Given the description of an element on the screen output the (x, y) to click on. 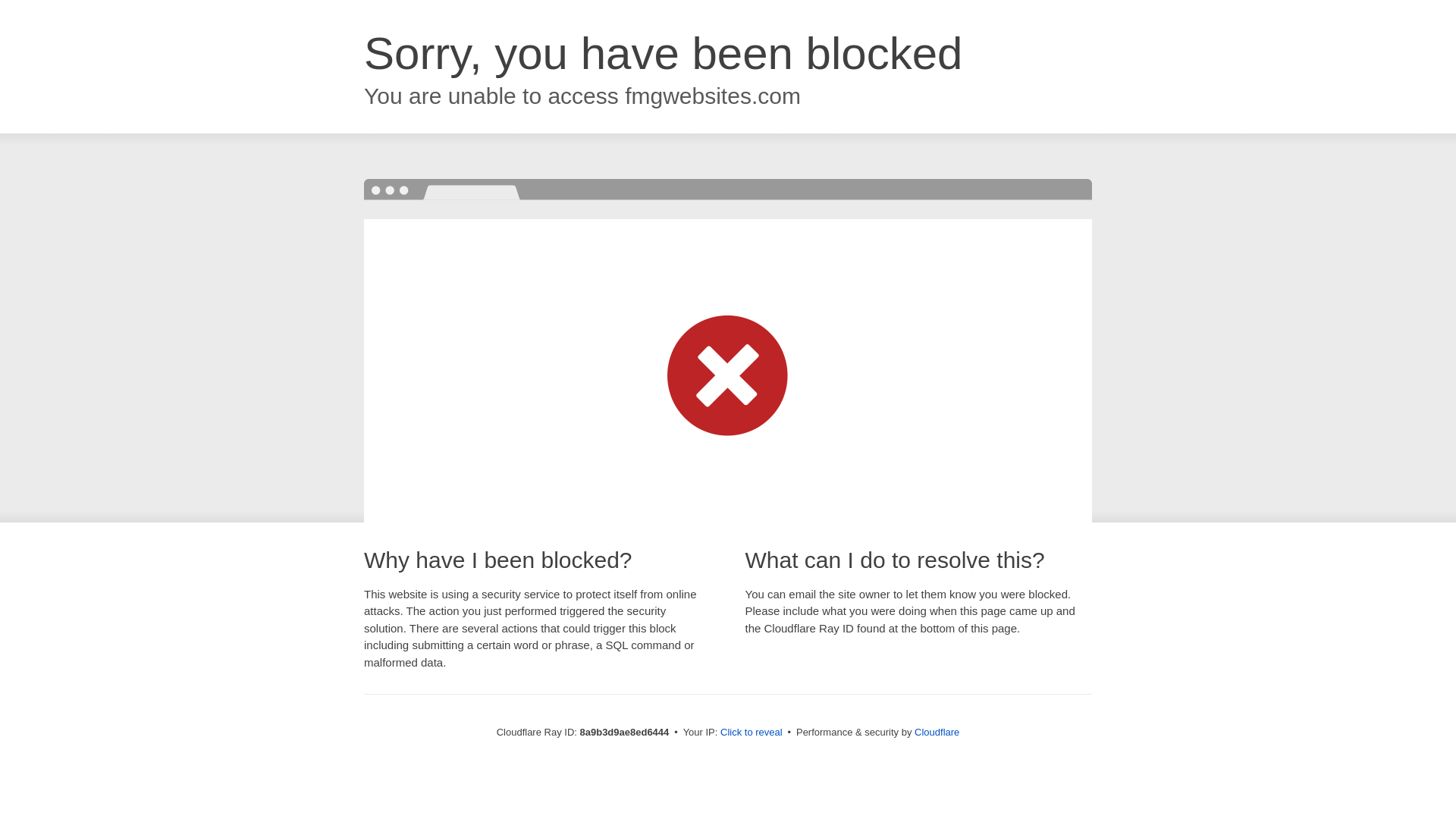
Click to reveal (751, 732)
Cloudflare (936, 731)
